Given the description of an element on the screen output the (x, y) to click on. 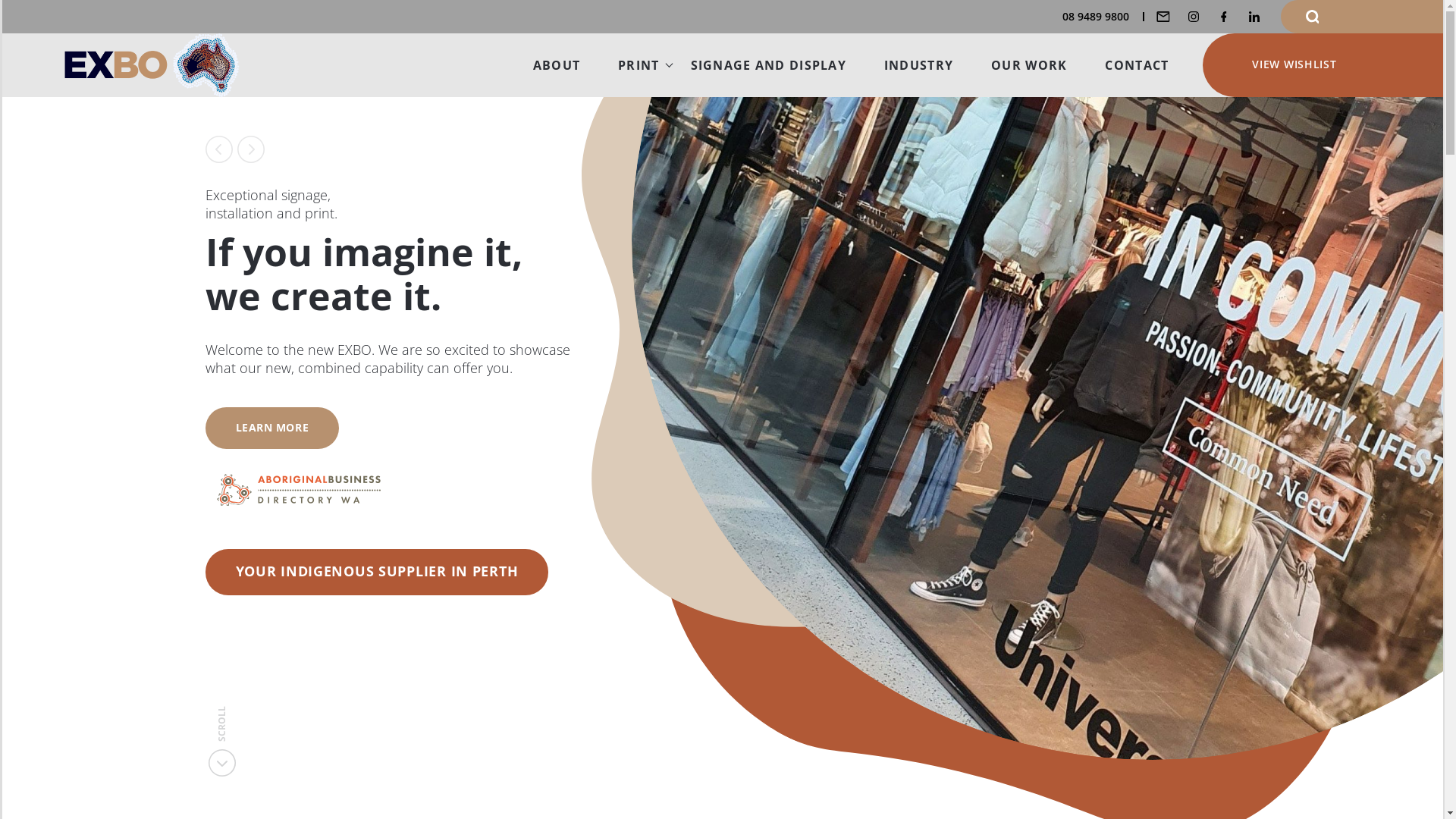
OUR WORK Element type: text (1028, 65)
INDUSTRY Element type: text (918, 65)
08 9489 9800 Element type: text (1102, 16)
SIGNAGE AND DISPLAY Element type: text (768, 65)
ABOUT Element type: text (556, 65)
CONTACT Element type: text (1136, 65)
YOUR INDIGENOUS SUPPLIER IN PERTH Element type: text (376, 572)
VIEW WISHLIST Element type: text (1322, 65)
SCROLL Element type: text (246, 711)
PRINT Element type: text (635, 65)
LEARN MORE Element type: text (271, 427)
